Given the description of an element on the screen output the (x, y) to click on. 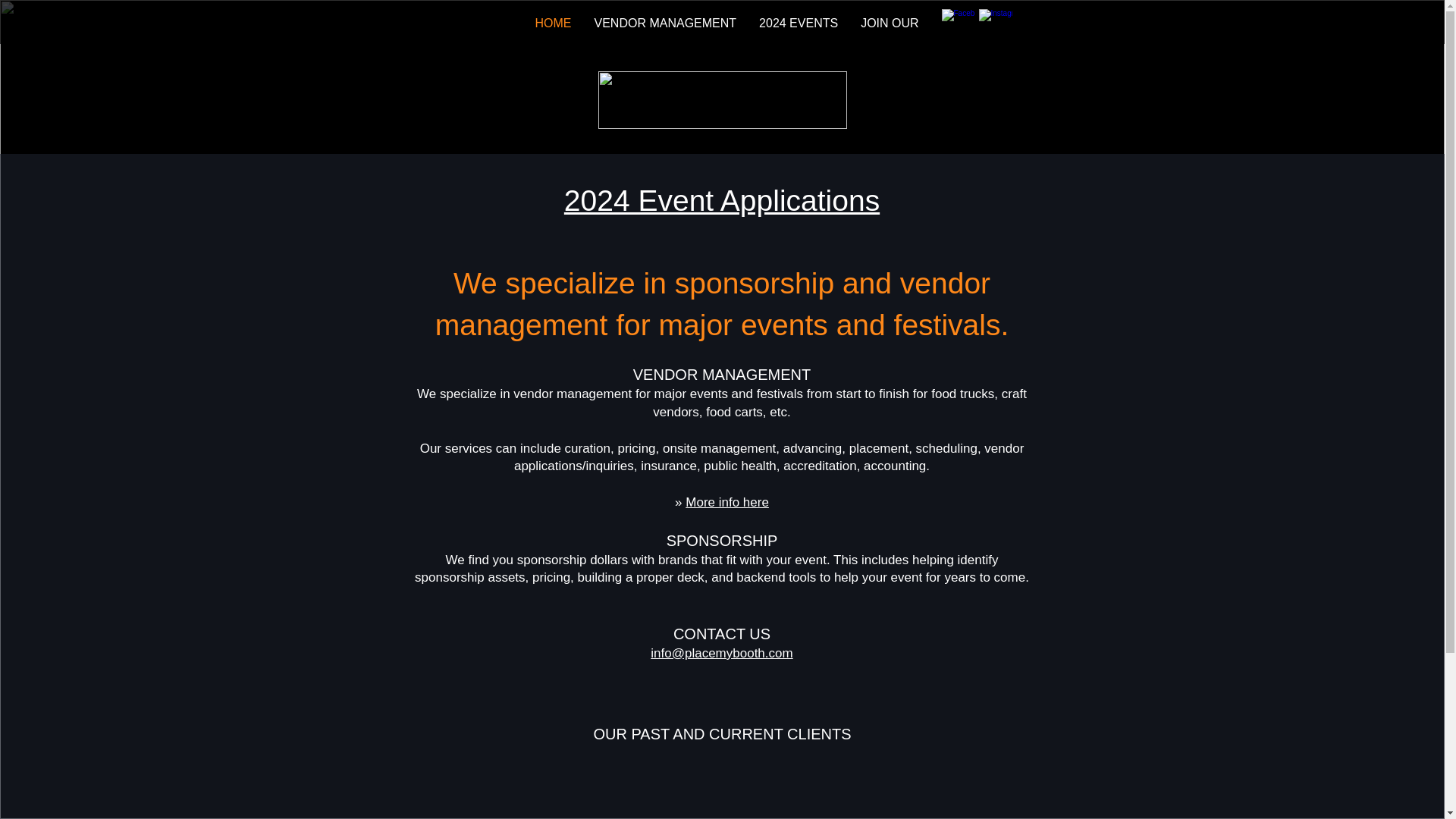
place-my-booth-logo.png (720, 99)
JOIN OUR MAILING LIST (929, 26)
VENDOR MANAGEMENT (665, 26)
HOME (552, 26)
2024 EVENTS (798, 26)
2024 Event Applications (721, 200)
More info here (726, 502)
